Given the description of an element on the screen output the (x, y) to click on. 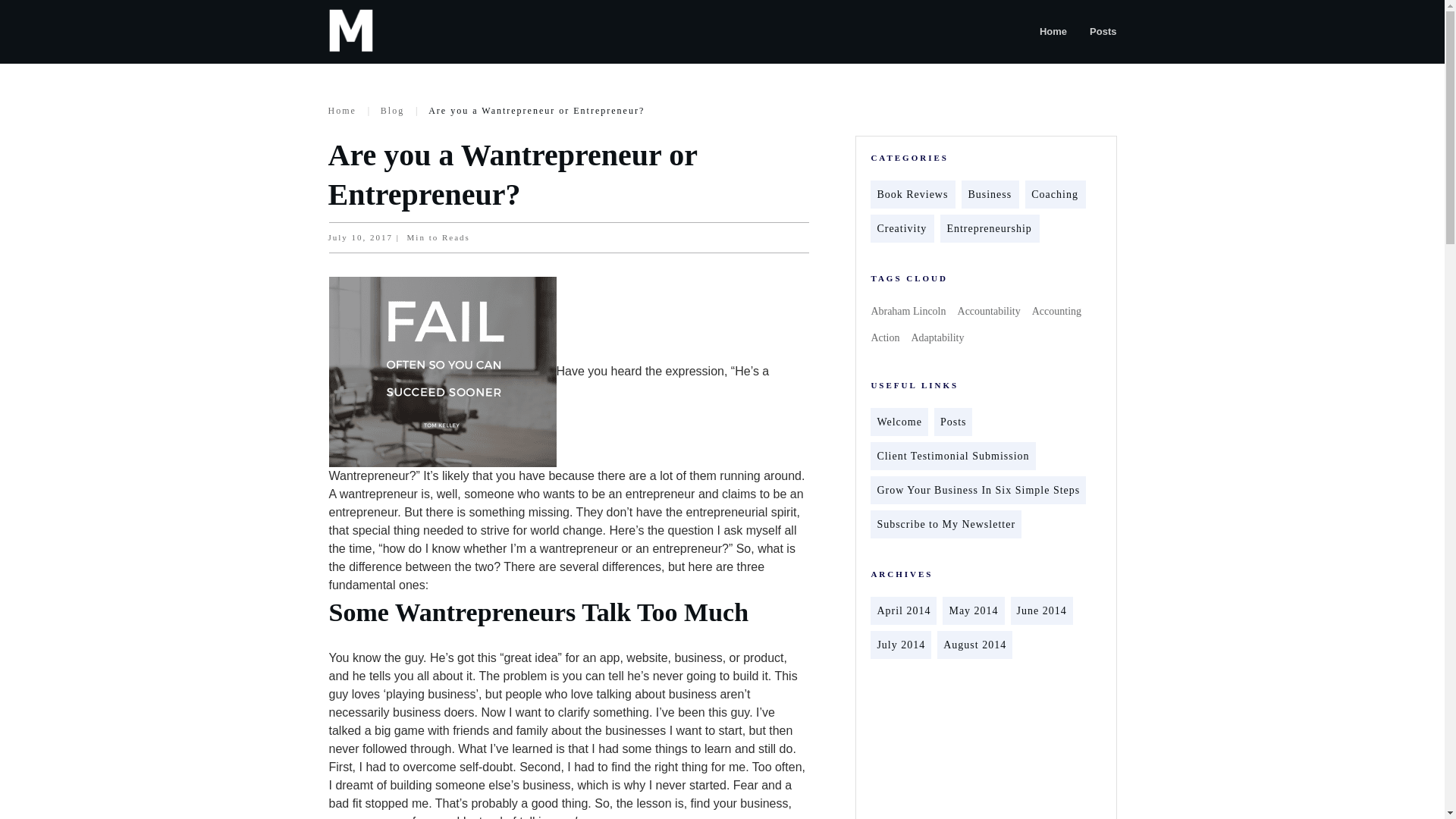
Subscribe to My Newsletter (945, 524)
Wantrepreneur vs. Entrepreneur (442, 371)
Home (341, 110)
June 2014 (1041, 610)
Blog (392, 110)
July 2014 (900, 644)
Grow Your Business In Six Simple Steps (978, 489)
Accountability (989, 311)
August 2014 (974, 644)
Abraham Lincoln (907, 311)
Book Reviews (911, 194)
Creativity (901, 228)
Posts (953, 421)
Client Testimonial Submission (952, 455)
April 2014 (903, 610)
